Given the description of an element on the screen output the (x, y) to click on. 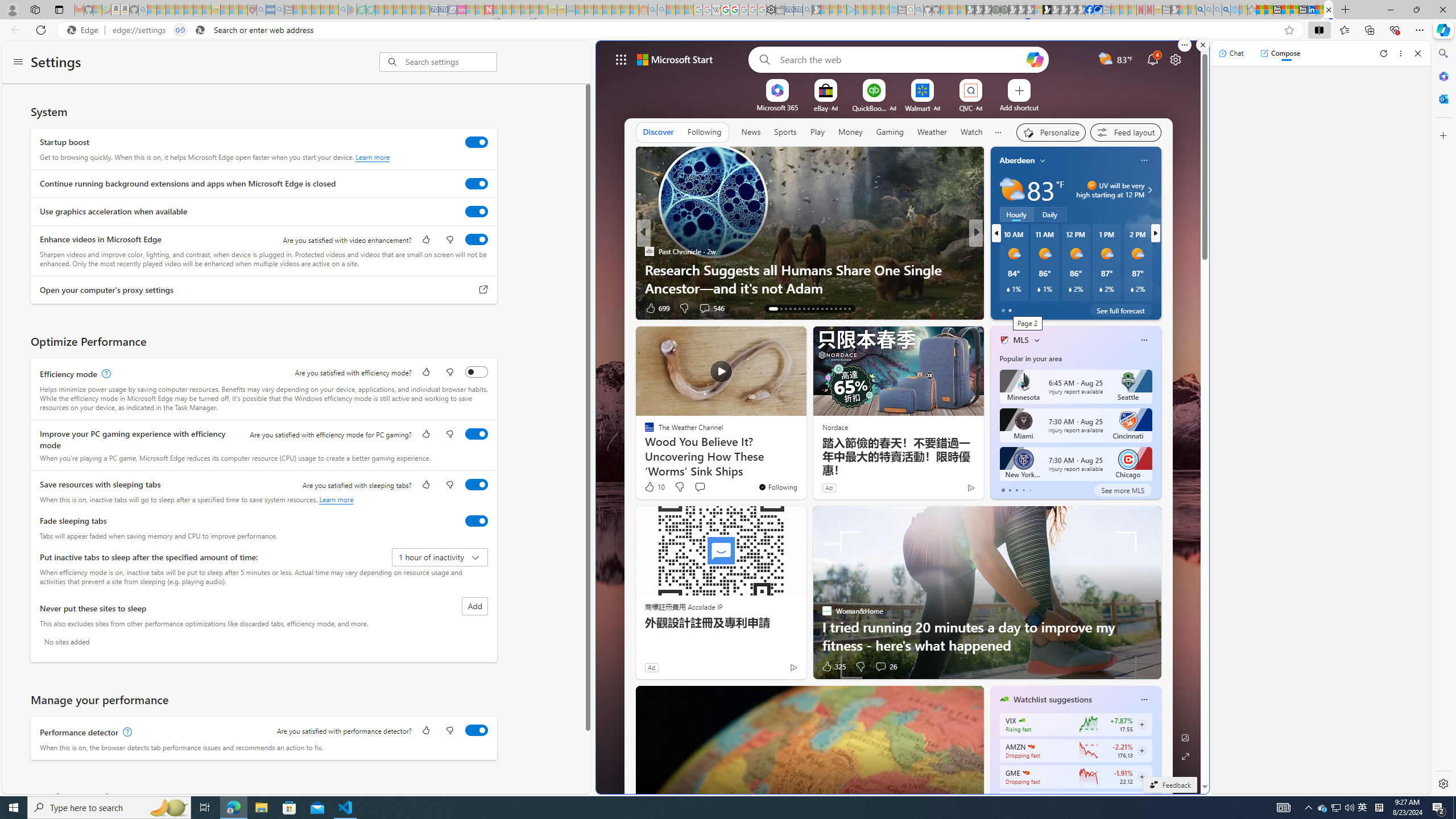
Bing Real Estate - Home sales and rental listings - Sleeping (806, 9)
Class: icon-img (1143, 699)
Show more topics (997, 132)
Daily (1049, 214)
View comments 18 Comment (1059, 307)
Tabs in split screen (180, 29)
The Independent (999, 250)
AutomationID: tab-24 (826, 308)
Edge (84, 29)
tab-1 (1009, 489)
Far & Wide (999, 269)
MSN - Sleeping (1174, 9)
Bluey: Let's Play! - Apps on Google Play - Sleeping (352, 9)
